Given the description of an element on the screen output the (x, y) to click on. 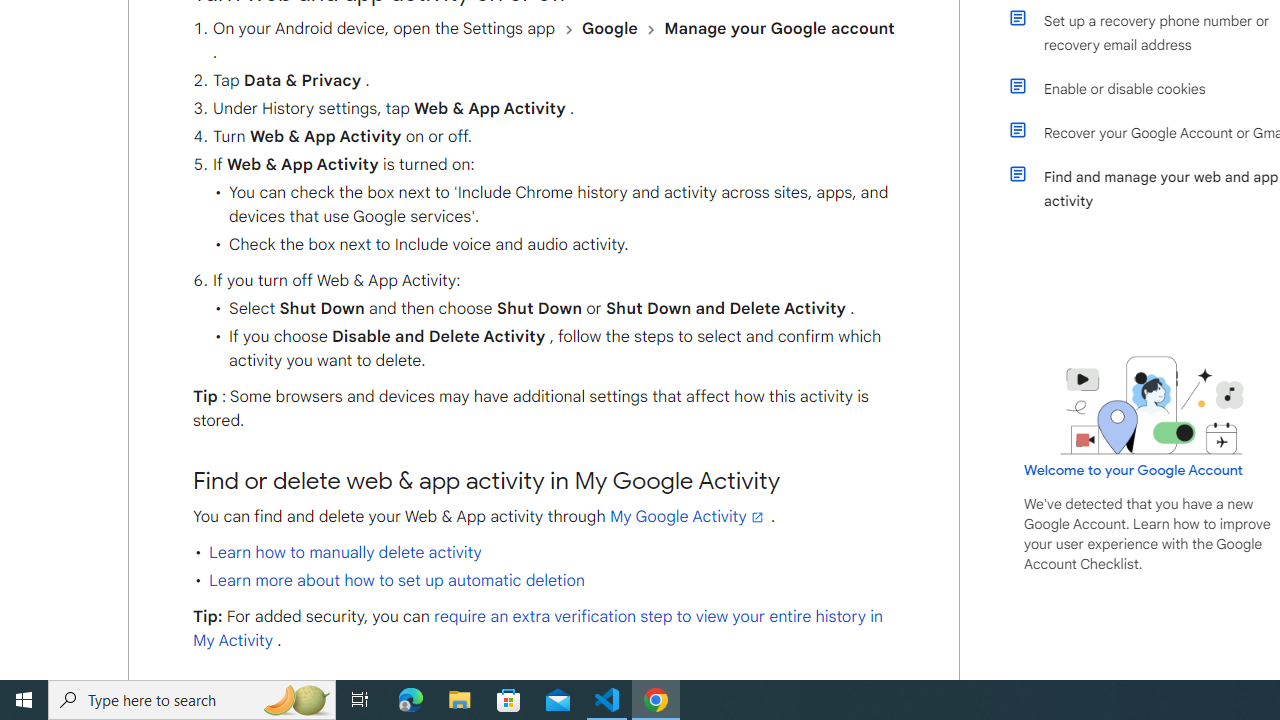
My Google Activity (687, 516)
Welcome to your Google Account (1134, 469)
Learn how to manually delete activity (345, 552)
Learn more about how to set up automatic deletion (396, 580)
Learning Center home page image (1152, 405)
and then (651, 29)
